Given the description of an element on the screen output the (x, y) to click on. 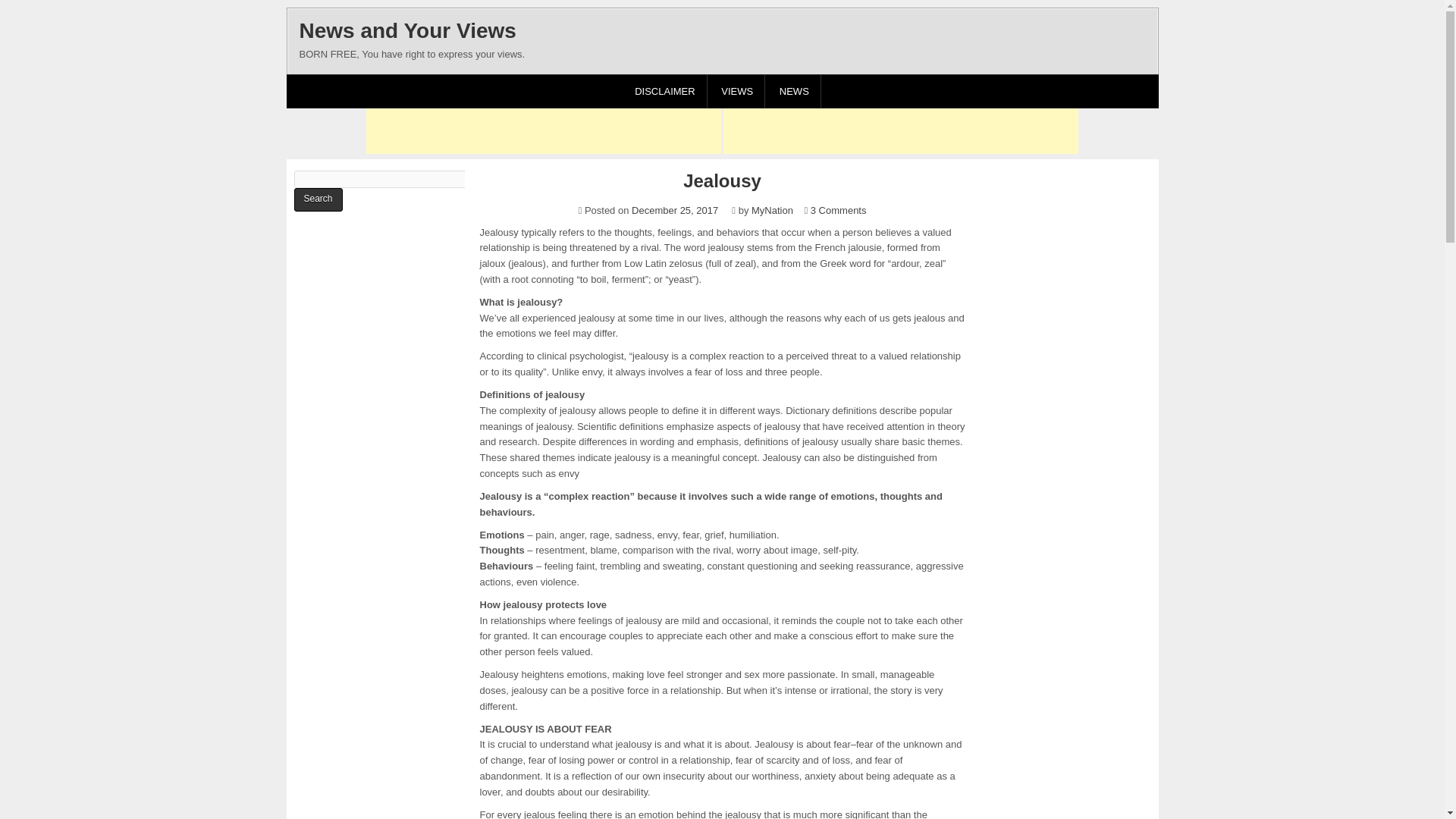
Jealousy (721, 181)
NEWS (794, 91)
VIEWS (737, 91)
News and Your Views (406, 30)
Search (318, 199)
December 25, 2017 (674, 210)
MyNation (772, 210)
DISCLAIMER (664, 91)
Search (318, 199)
3 Comments (838, 210)
